Given the description of an element on the screen output the (x, y) to click on. 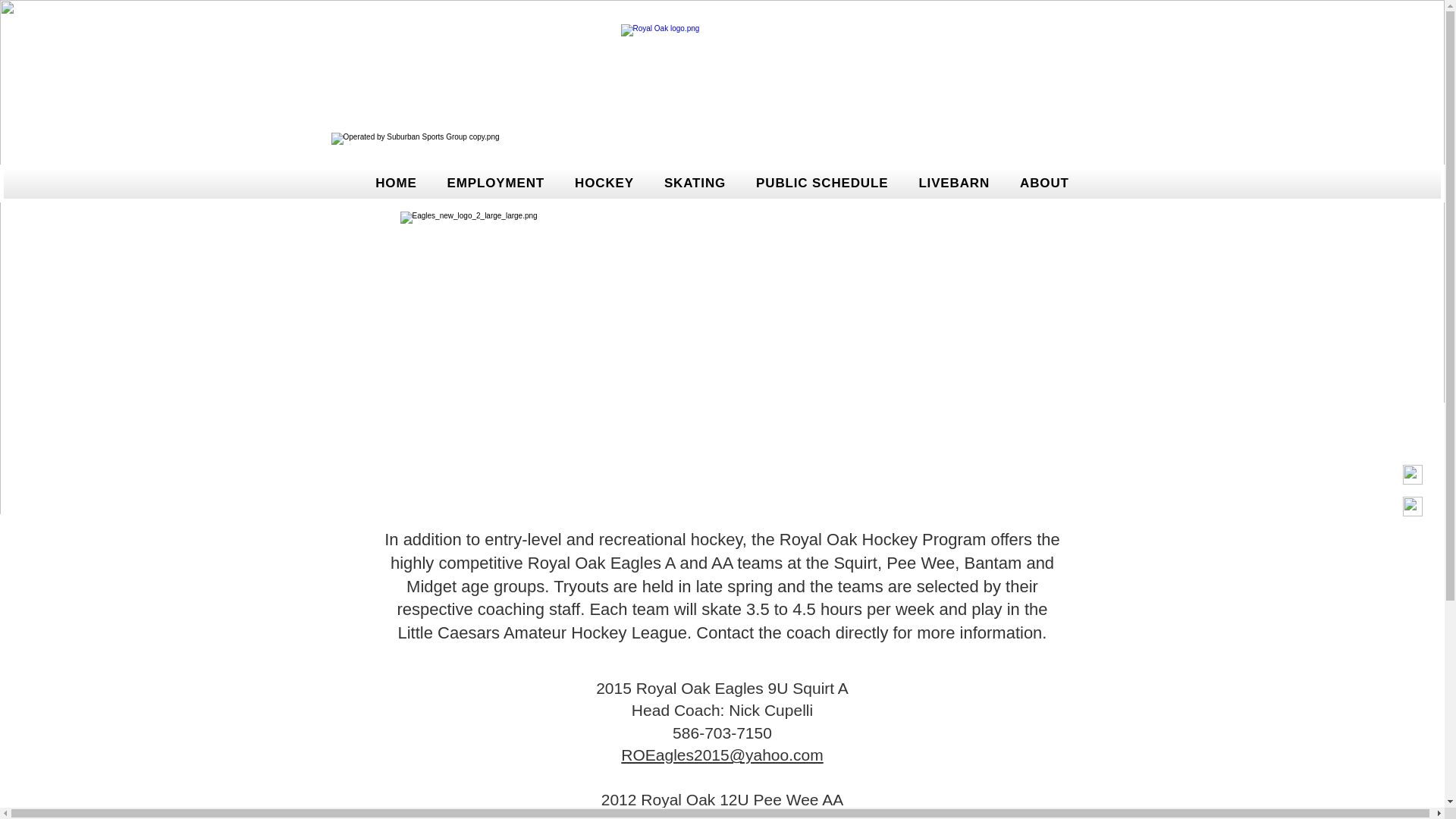
HOME (395, 183)
PUBLIC SCHEDULE (821, 183)
LIVEBARN (954, 183)
EMPLOYMENT (495, 183)
